Given the description of an element on the screen output the (x, y) to click on. 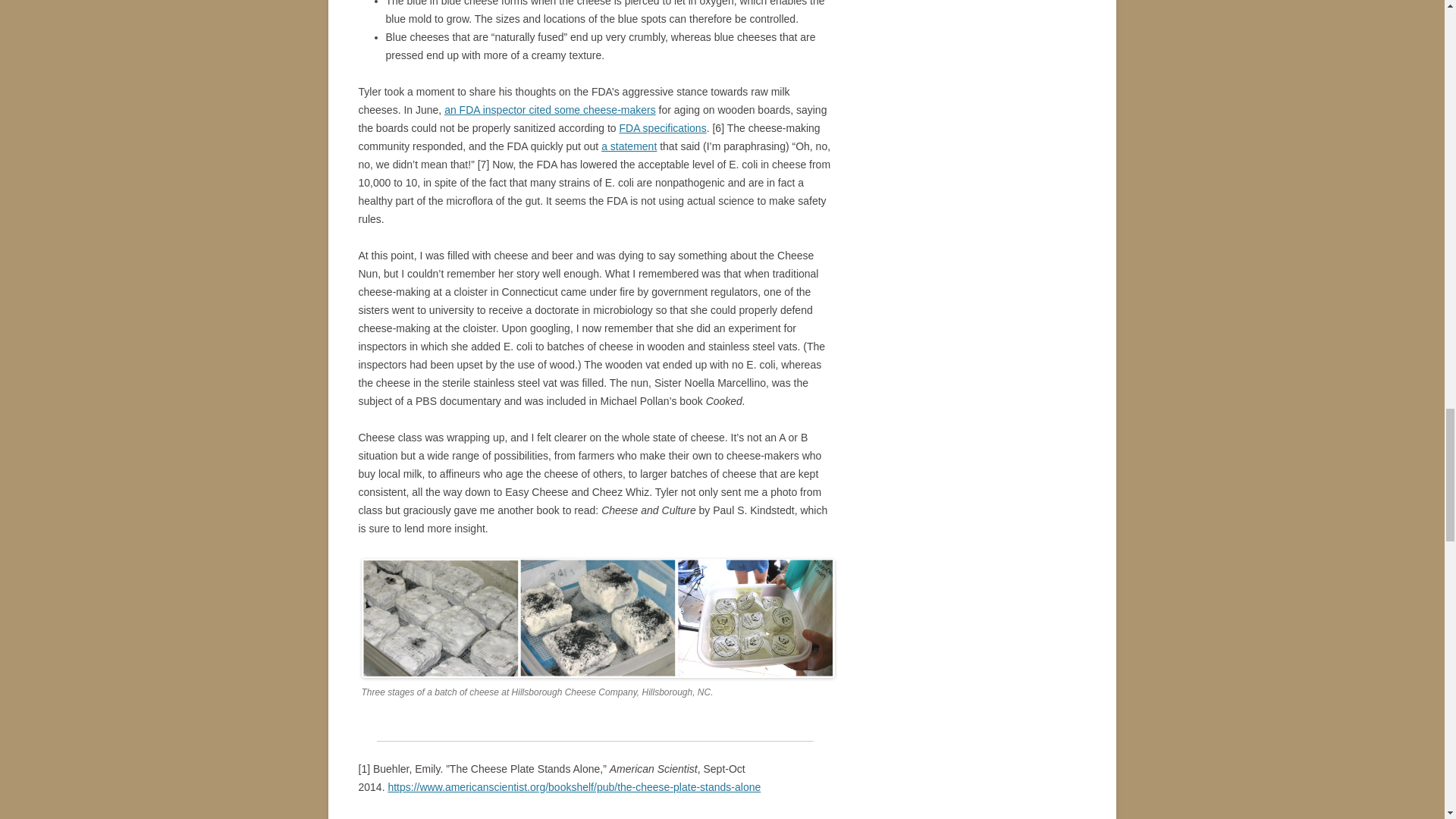
science of cheese book review (573, 787)
a statement (628, 146)
FDA code (662, 128)
FDA specifications (662, 128)
an FDA inspector cited some cheese-makers (550, 110)
FDA inspector citation (550, 110)
FDA response (628, 146)
